Given the description of an element on the screen output the (x, y) to click on. 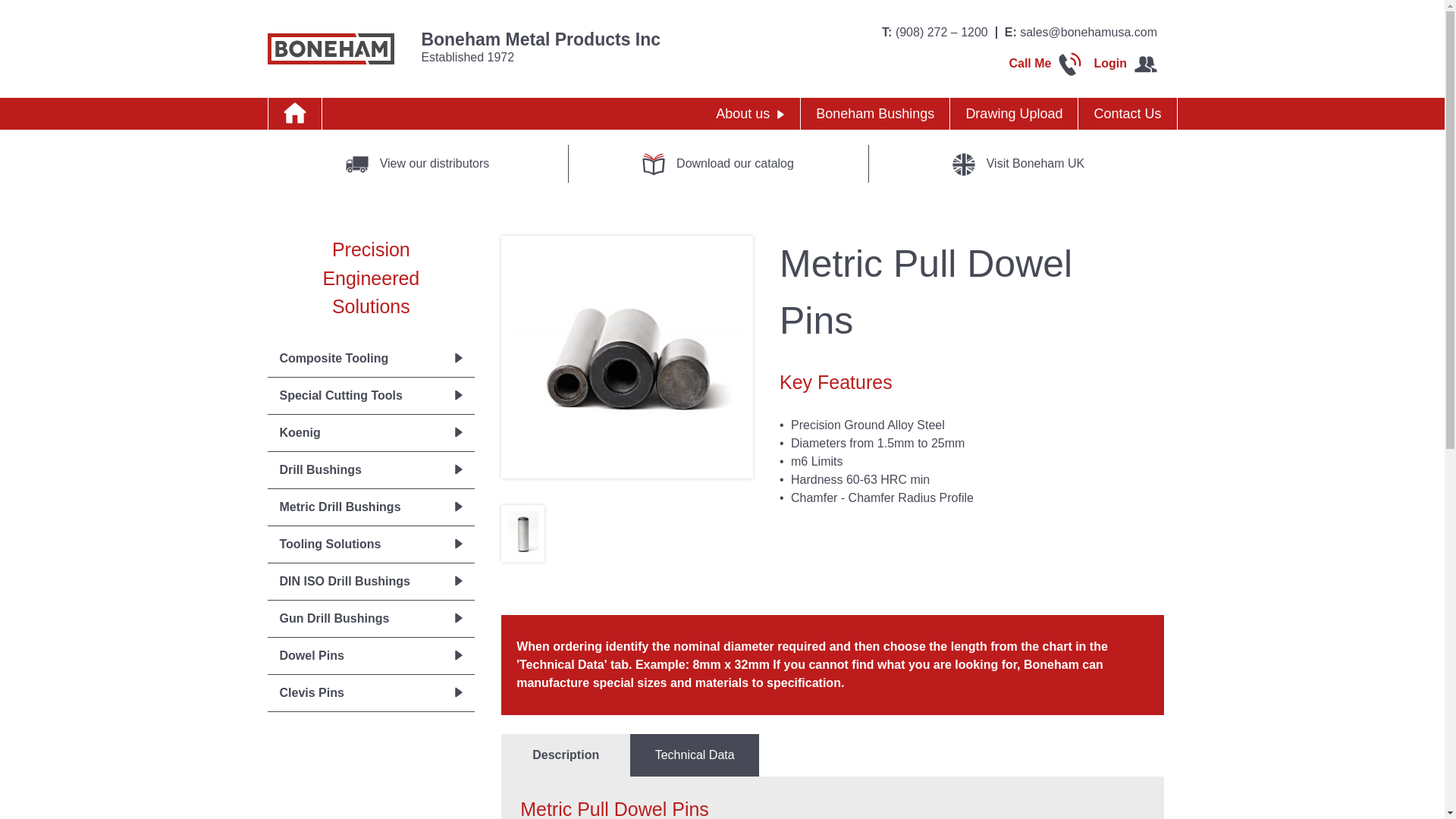
Tooling Solutions (370, 544)
Technical Data (694, 754)
Contact Us (1127, 113)
Special Cutting Tools (370, 395)
Composite Tooling (370, 357)
Clevis Pins (370, 692)
Home (294, 113)
About us (749, 113)
Metric Drill Bushings (370, 506)
Dowel Pins (370, 655)
Drill Bushings (370, 470)
Description (565, 754)
Koenig (370, 432)
Login (1125, 62)
Gun Drill Bushings (370, 619)
